Given the description of an element on the screen output the (x, y) to click on. 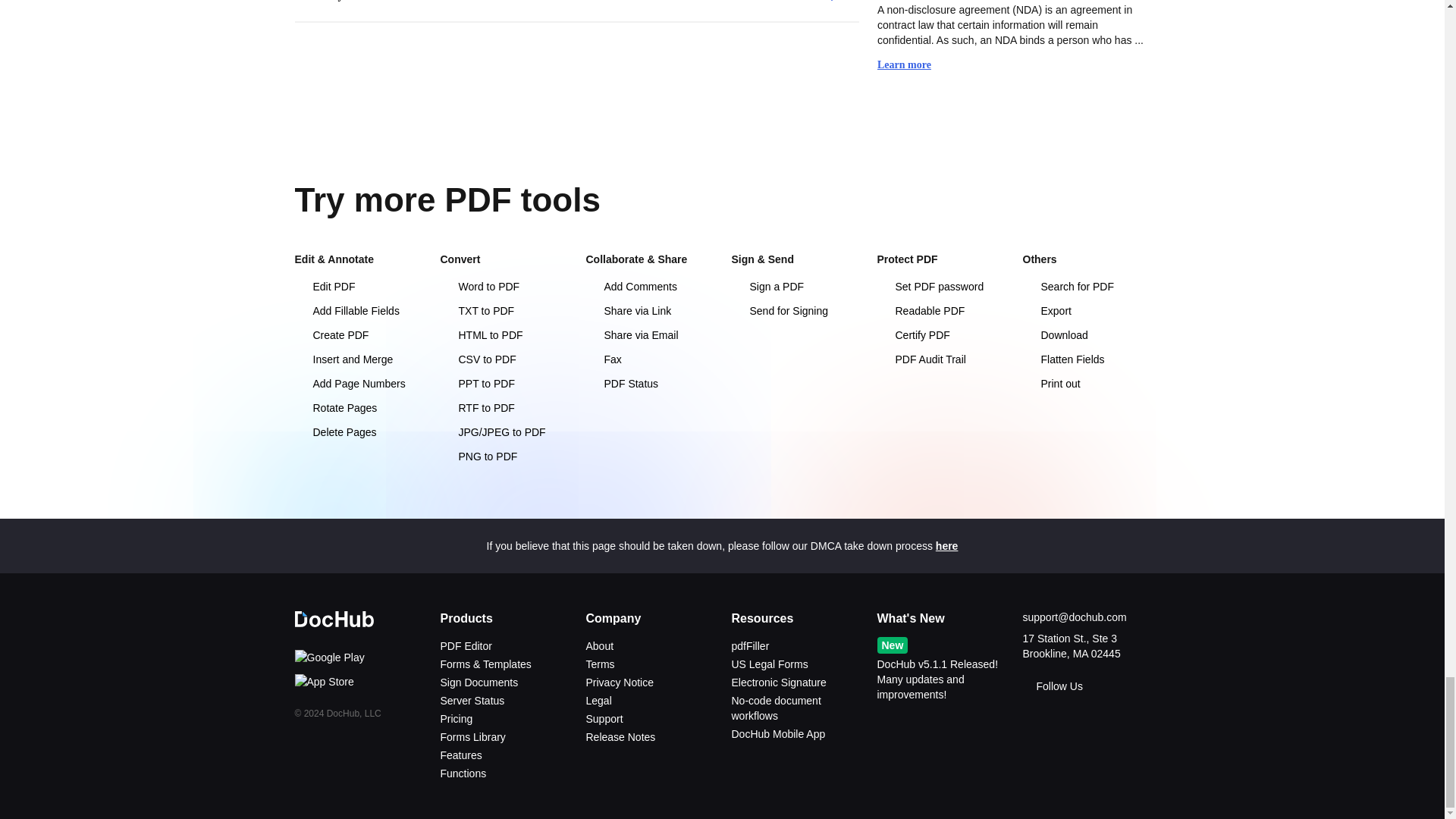
Rotate Pages (358, 407)
Add Fillable Fields (358, 310)
Insert and Merge (358, 359)
Add Page Numbers (358, 383)
Edit PDF (358, 286)
Learn more (910, 64)
Create PDF (358, 335)
Delete Pages (358, 432)
